Given the description of an element on the screen output the (x, y) to click on. 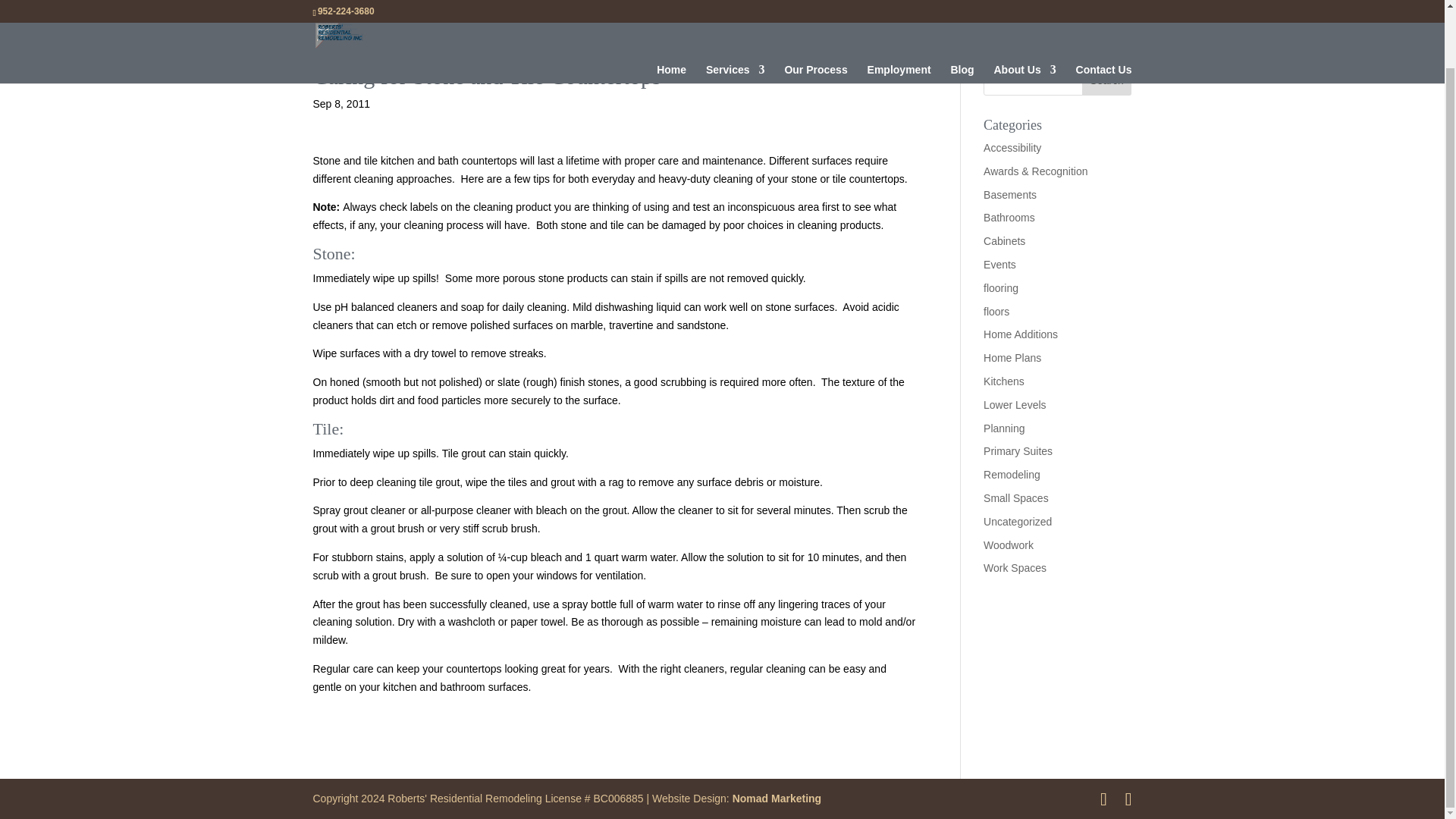
Primary Suites (1018, 451)
Uncategorized (1017, 521)
Accessibility (1012, 147)
Home Additions (1021, 334)
Small Spaces (1016, 498)
floors (996, 311)
Events (1000, 264)
Work Spaces (1015, 567)
Search (1106, 80)
Services (735, 19)
